Given the description of an element on the screen output the (x, y) to click on. 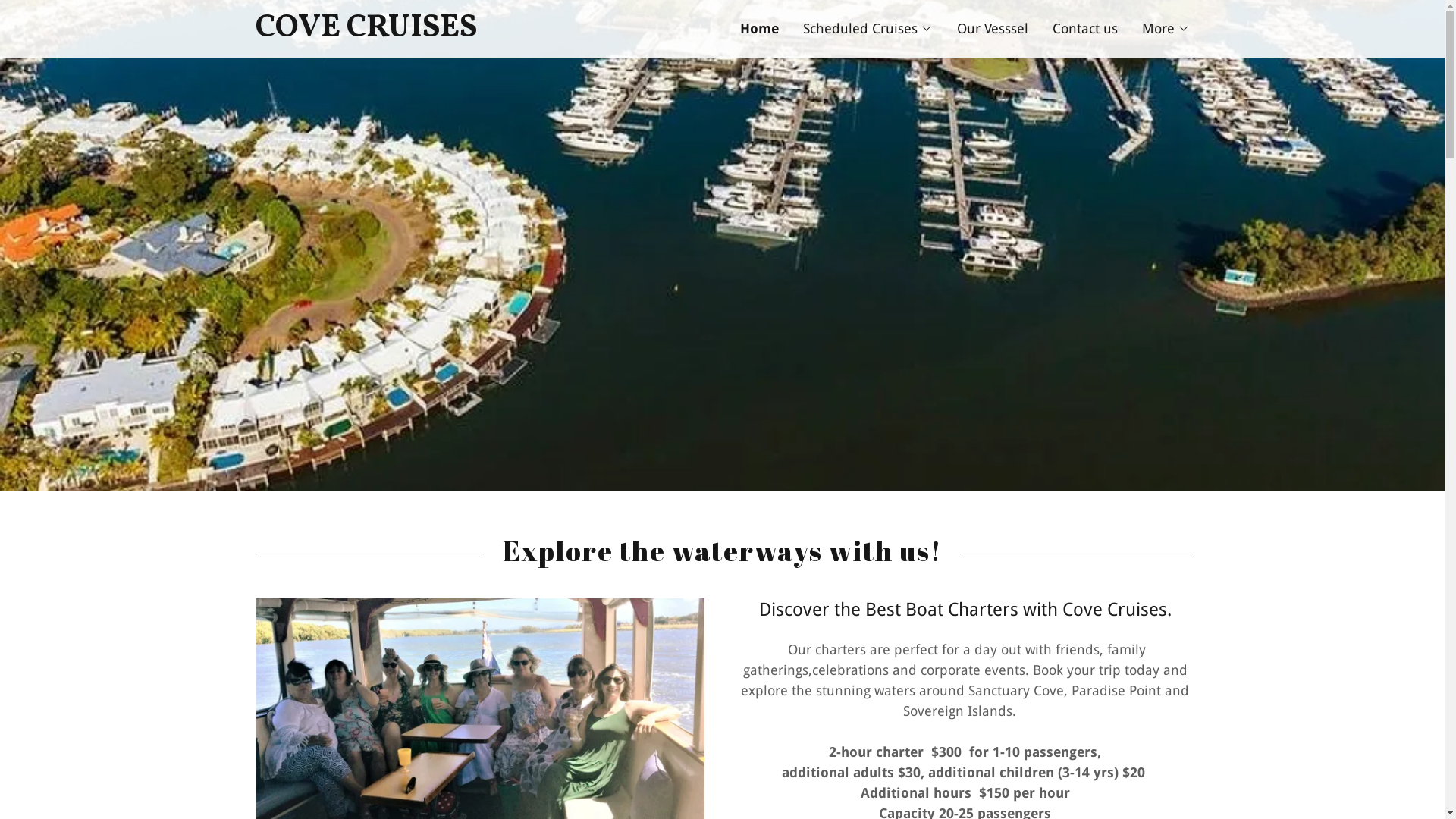
More Element type: text (1165, 28)
Scheduled Cruises Element type: text (866, 28)
COVE CRUISES Element type: text (487, 31)
Contact us Element type: text (1085, 28)
Our Vesssel Element type: text (992, 28)
Home Element type: text (759, 28)
